Given the description of an element on the screen output the (x, y) to click on. 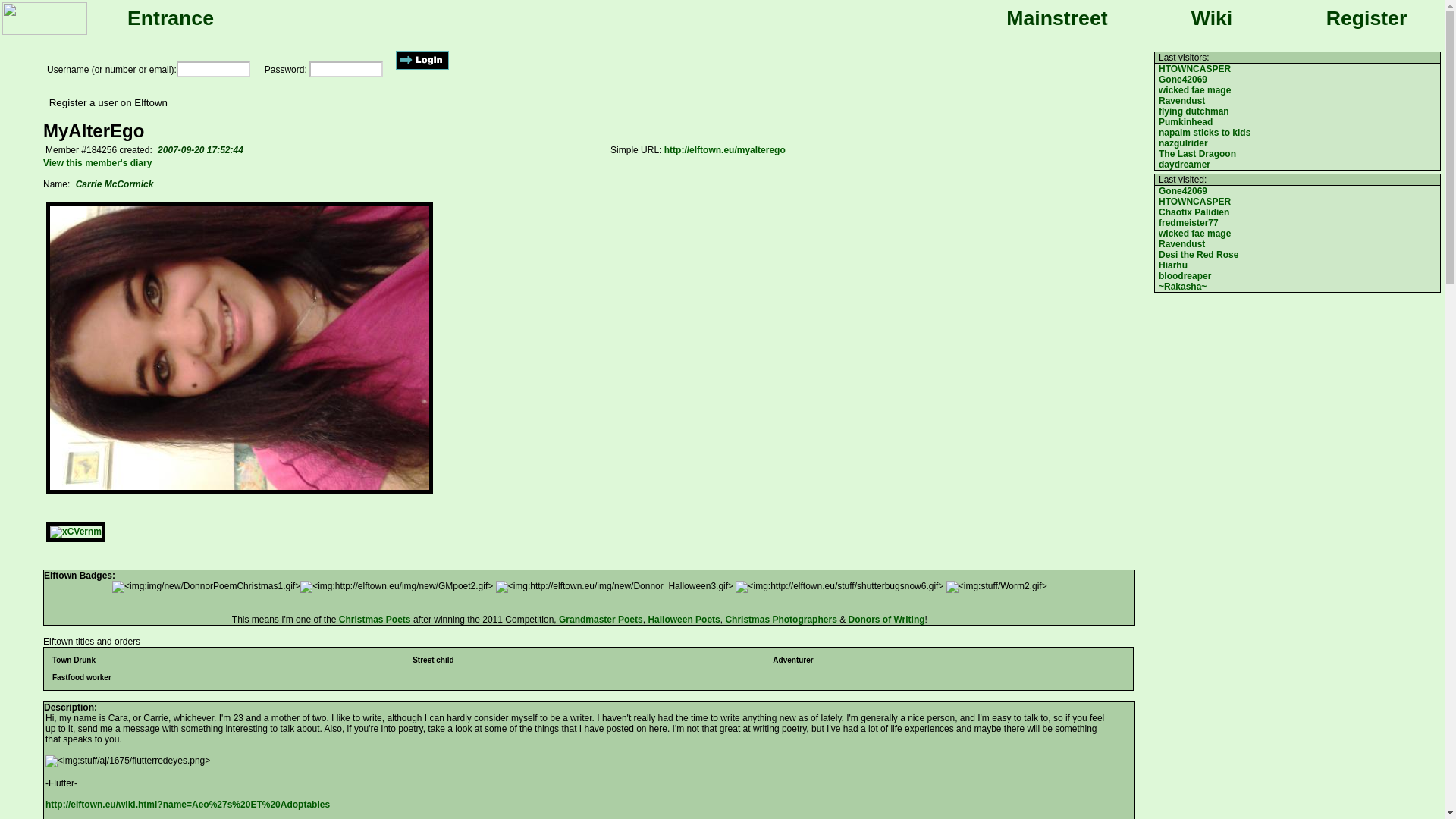
 Entrance  (170, 18)
Chaotix Palidien (1193, 212)
Grandmaster Poets (601, 619)
nazgulrider (1183, 143)
 Mainstreet  (1056, 18)
Desi the Red Rose (1198, 254)
wicked fae mage (1194, 233)
Gone42069 (1182, 190)
napalm sticks to kids (1204, 132)
HTOWNCASPER (1194, 68)
